Given the description of an element on the screen output the (x, y) to click on. 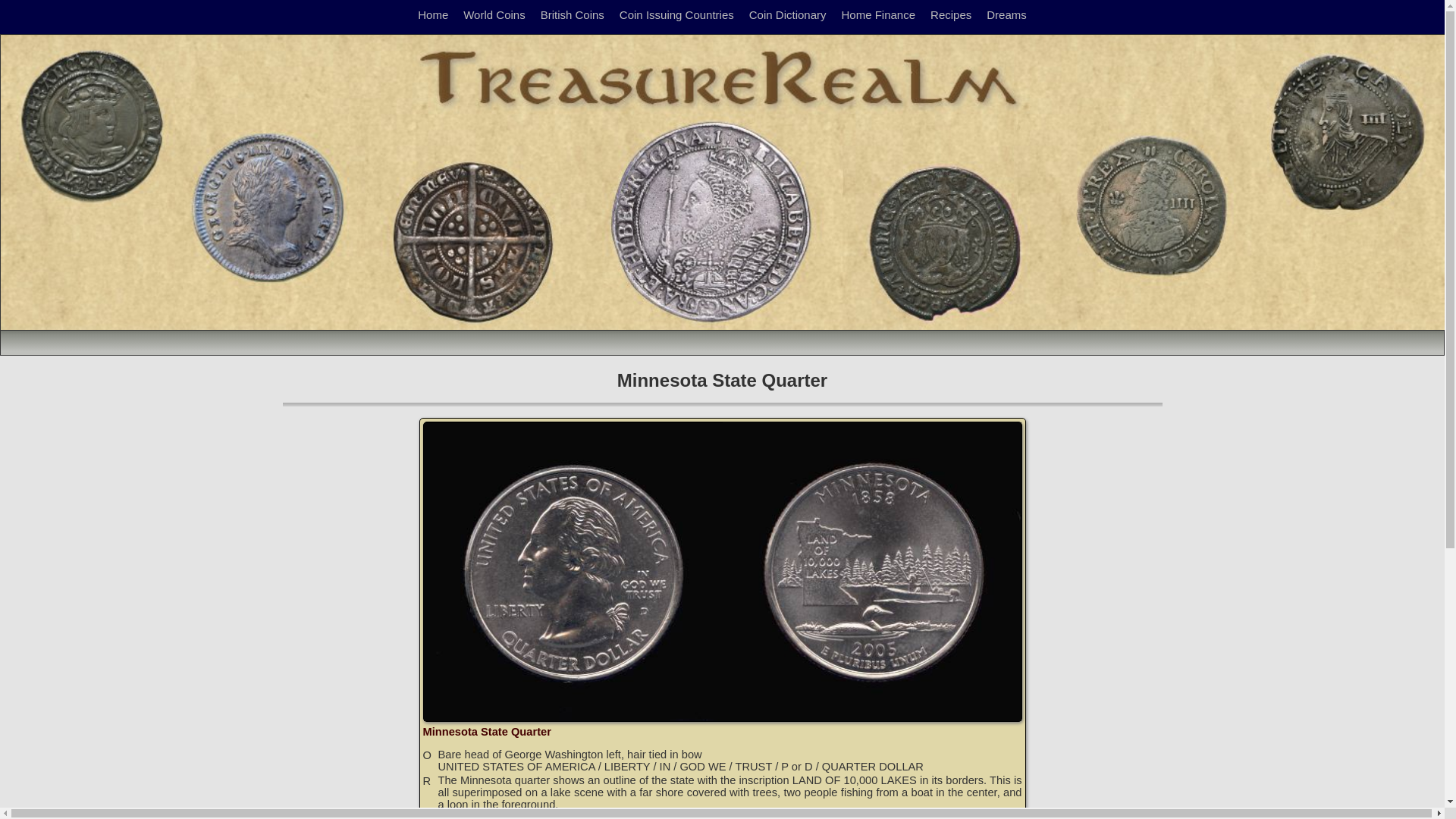
World Coins (493, 14)
Recipes (950, 14)
British Coins (572, 14)
Coin Dictionary (788, 14)
Coin Issuing Countries (676, 14)
Home Finance (878, 14)
Home (432, 14)
Dreams (1006, 14)
